Given the description of an element on the screen output the (x, y) to click on. 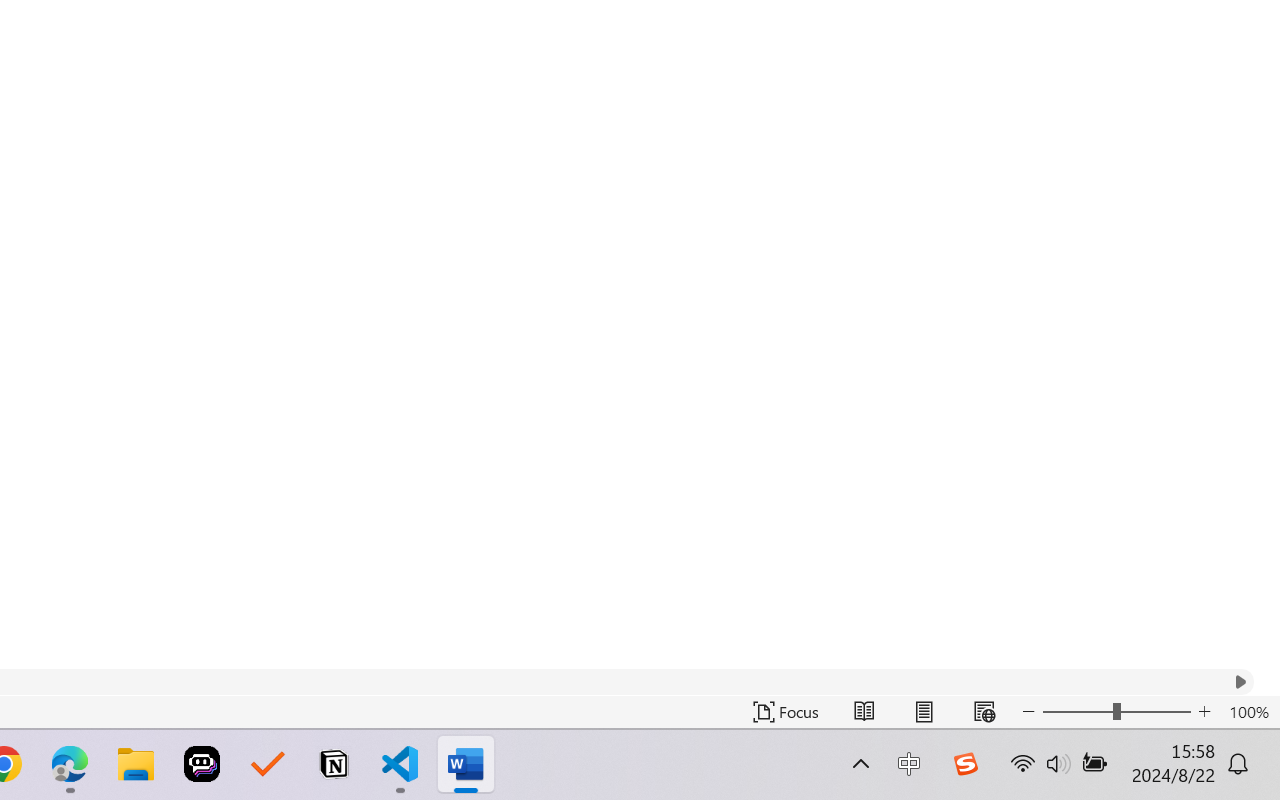
Focus  (786, 712)
Zoom (1116, 712)
Class: Image (965, 764)
Column right (1240, 681)
Zoom Out (1077, 712)
Print Layout (924, 712)
Zoom 100% (1249, 712)
Zoom In (1204, 712)
Read Mode (864, 712)
Web Layout (984, 712)
